Given the description of an element on the screen output the (x, y) to click on. 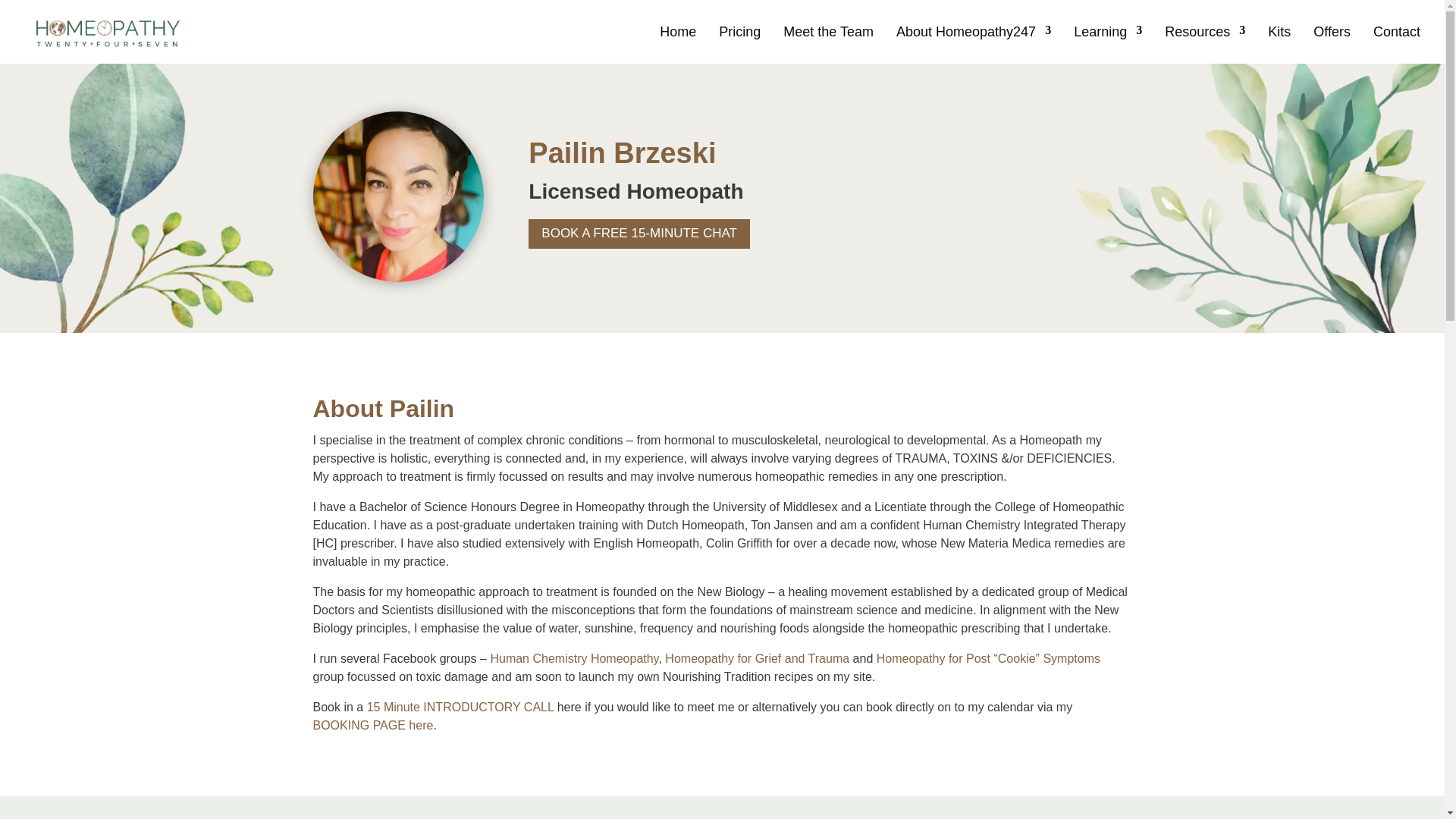
About Homeopathy247 (973, 44)
Learning (1107, 44)
Home (677, 44)
Contact (1397, 44)
Offers (1332, 44)
Resources (1204, 44)
Pricing (739, 44)
Meet the Team (828, 44)
